Given the description of an element on the screen output the (x, y) to click on. 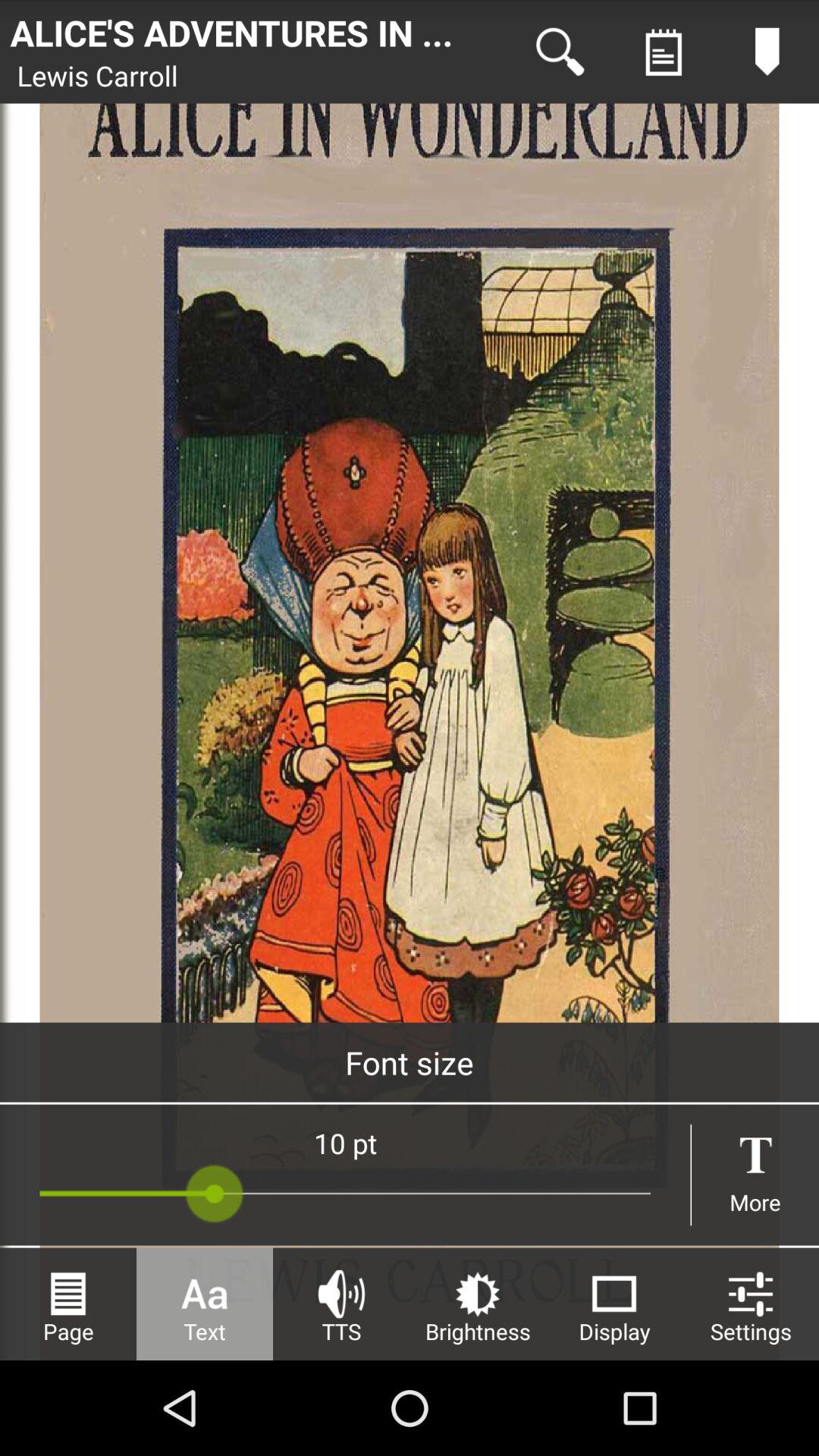
edit (767, 51)
